Given the description of an element on the screen output the (x, y) to click on. 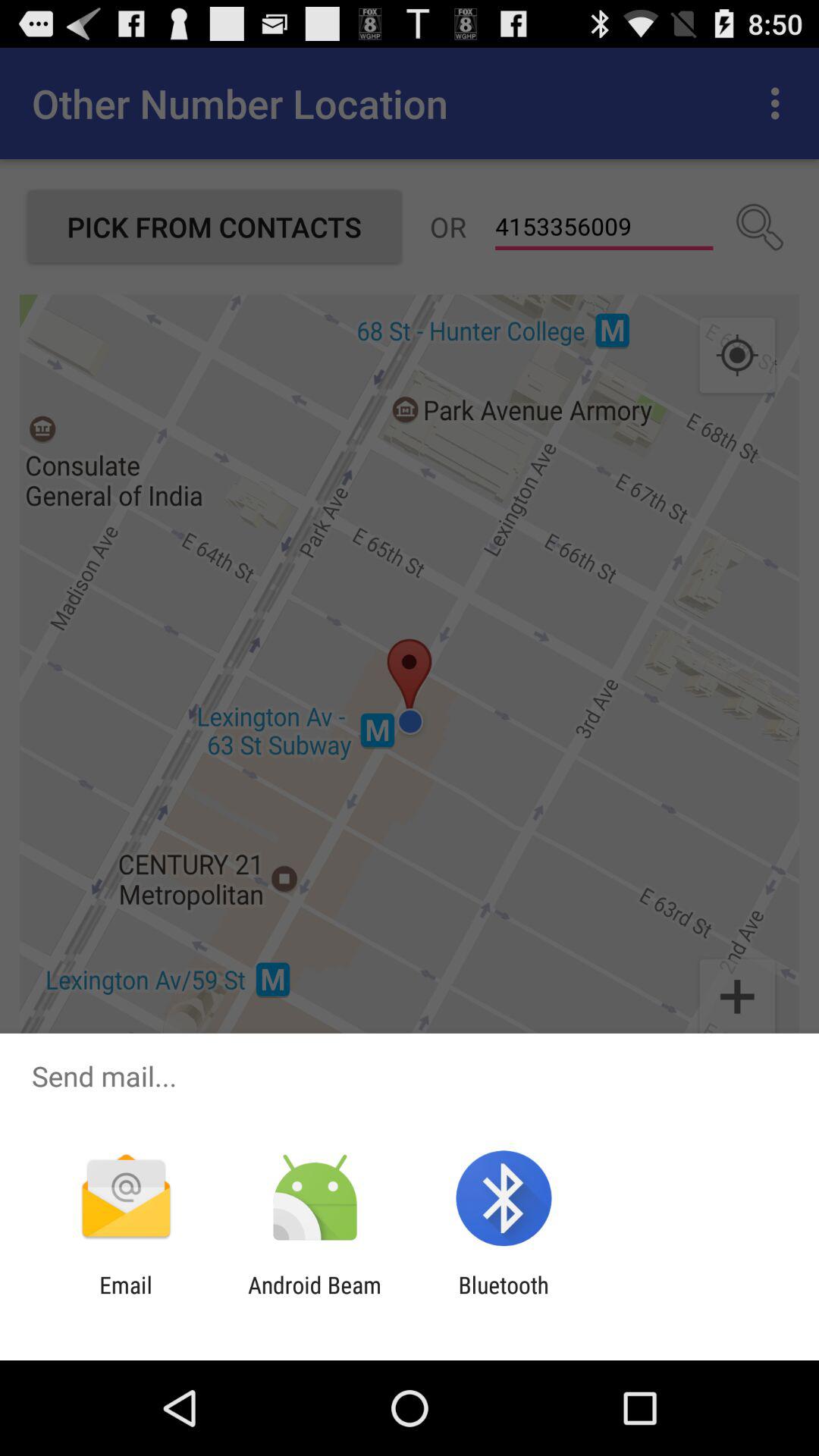
swipe to the android beam app (314, 1298)
